Given the description of an element on the screen output the (x, y) to click on. 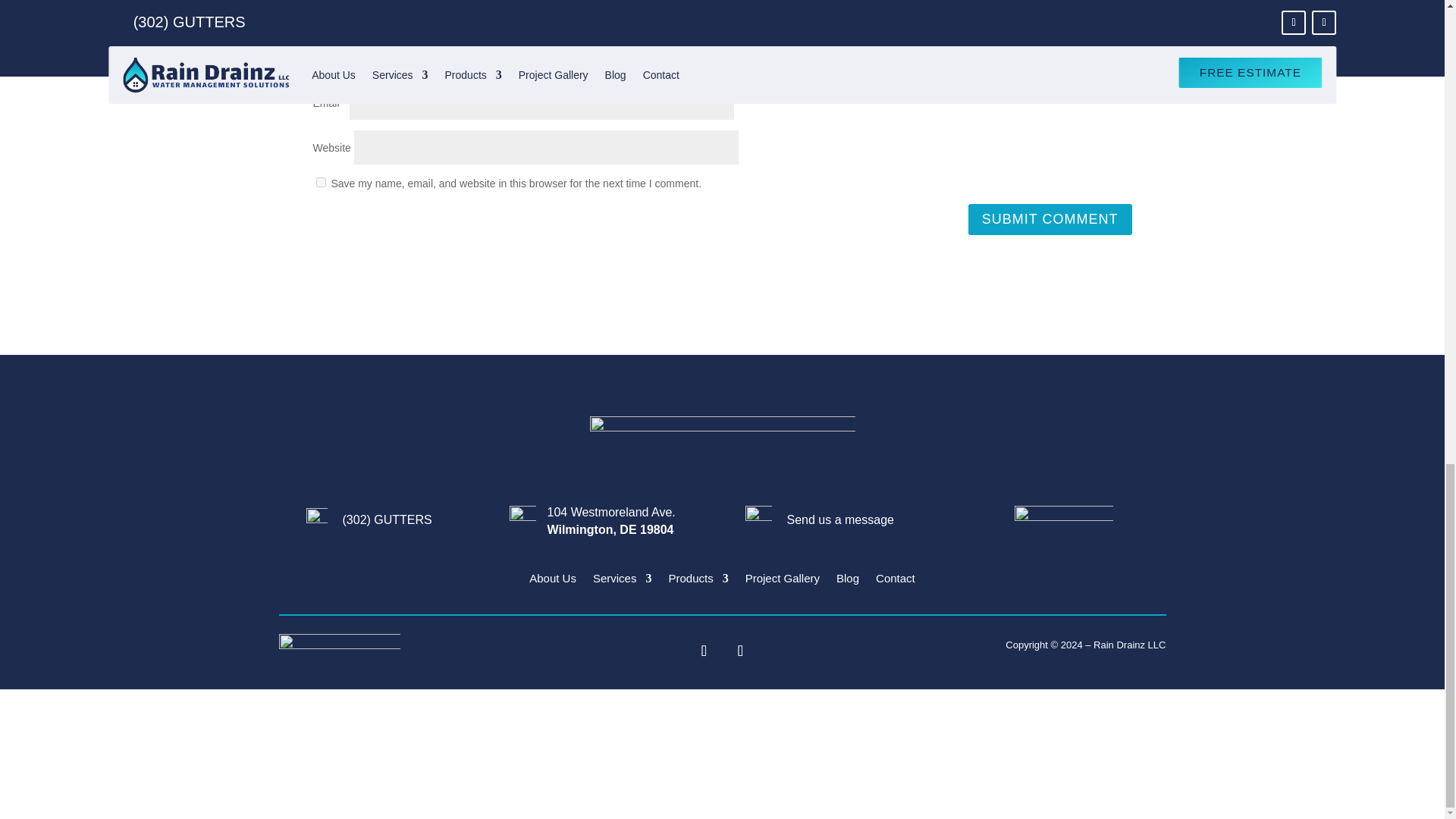
idolize-badge-white (339, 645)
BBB Logo 2 (1063, 524)
Follow on Facebook (703, 650)
yes (319, 182)
Submit Comment (1050, 219)
Reverse-logo (722, 443)
